Given the description of an element on the screen output the (x, y) to click on. 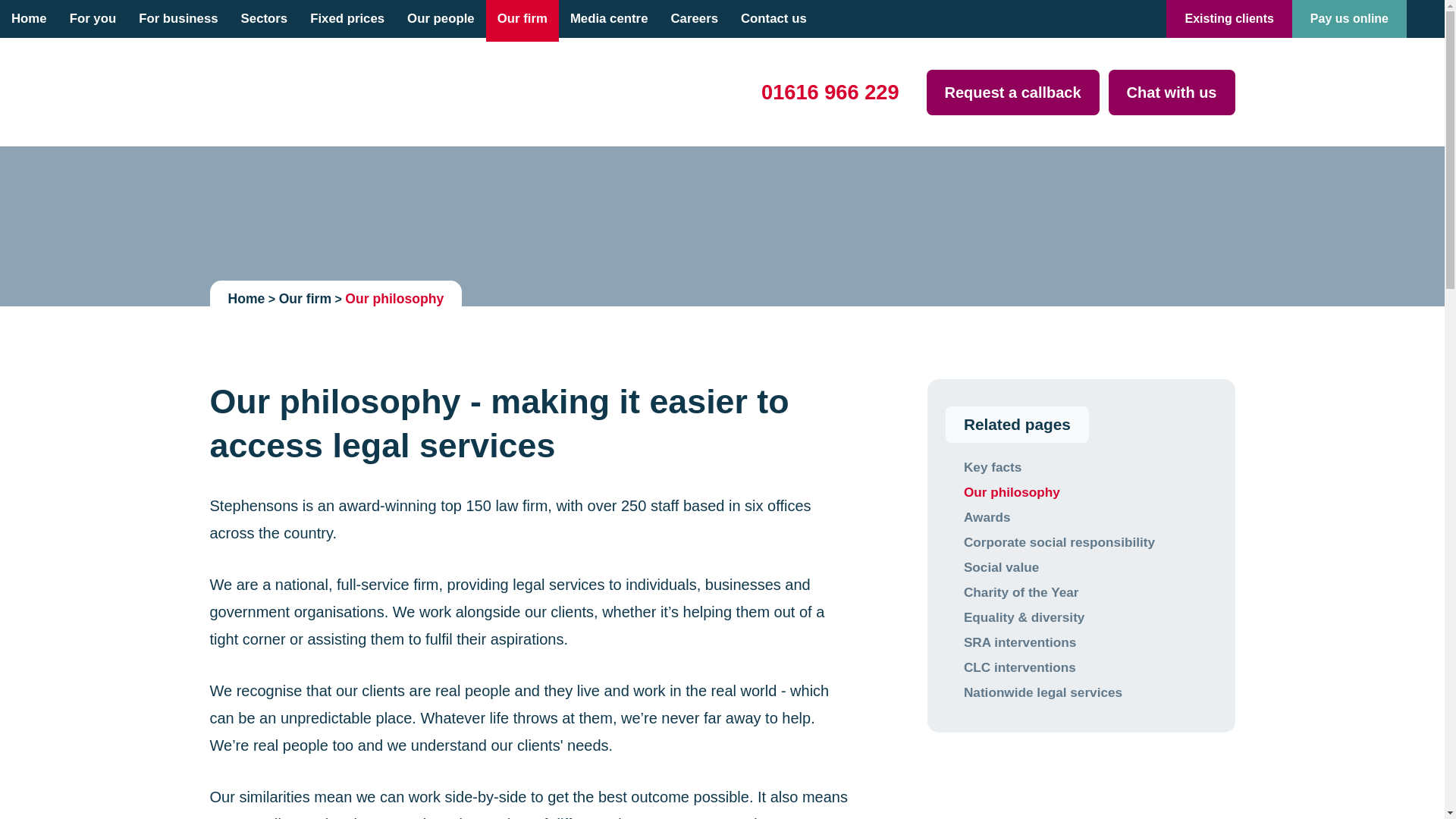
Pay us online (1349, 18)
Existing clients (1228, 18)
For business (178, 18)
Home (29, 18)
For you (93, 18)
